Given the description of an element on the screen output the (x, y) to click on. 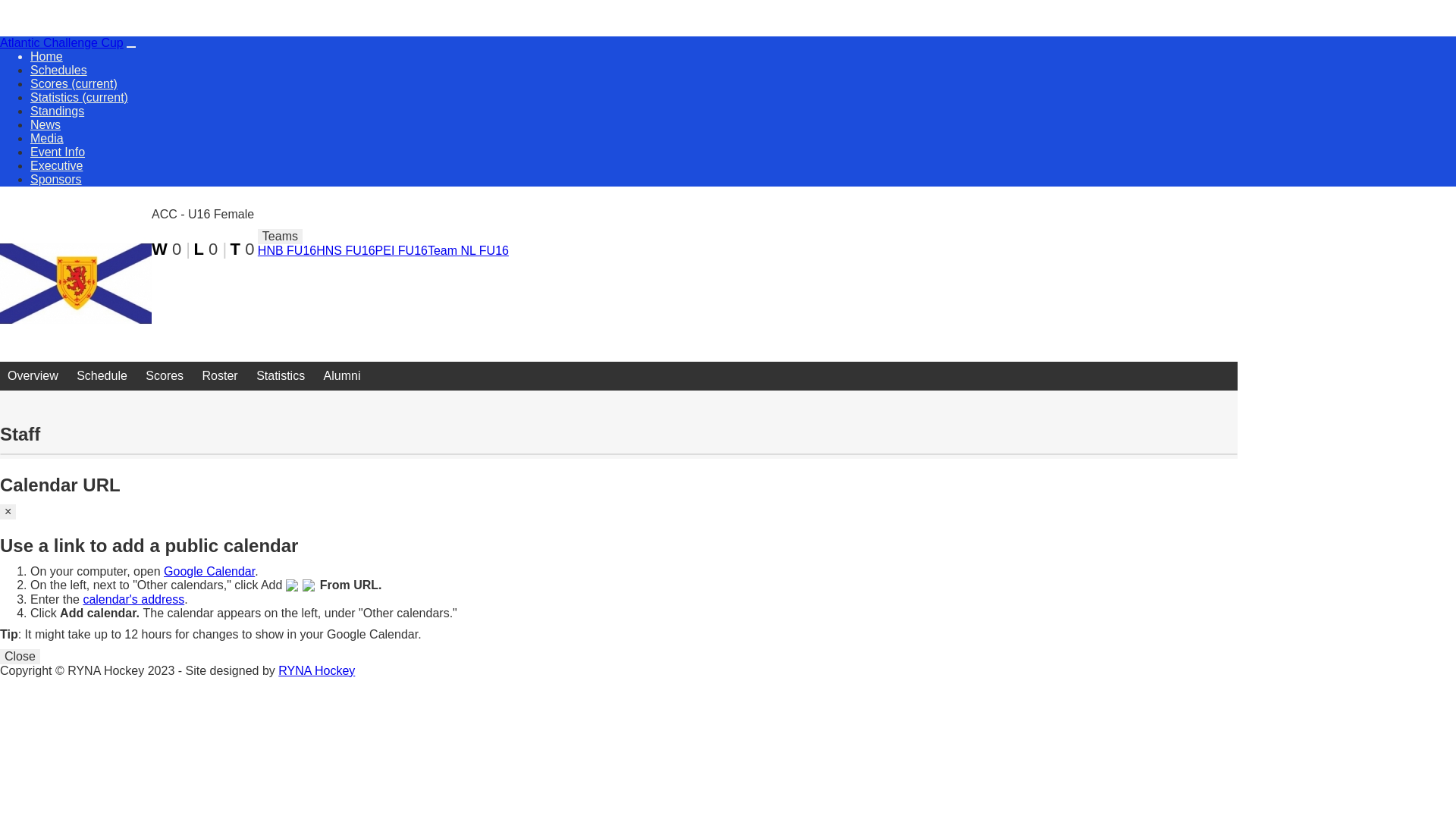
calendar's address Element type: text (133, 599)
Standings Element type: text (57, 110)
Statistics (current) Element type: text (79, 97)
RYNA Hockey Element type: text (316, 670)
Alumni Element type: text (342, 375)
Media Element type: text (46, 137)
Schedules Element type: text (58, 69)
Atlantic Challenge Cup Element type: text (61, 42)
Scores Element type: text (164, 375)
Schedule Element type: text (101, 375)
Roster Element type: text (219, 375)
Close Element type: text (20, 656)
Team NL FU16 Element type: text (467, 250)
Scores (current) Element type: text (73, 83)
Home Element type: text (46, 56)
Executive Element type: text (56, 165)
Overview Element type: text (32, 375)
PEI FU16 Element type: text (401, 250)
HNB FU16 Element type: text (286, 250)
Teams Element type: text (279, 236)
Sponsors Element type: text (55, 178)
HNS FU16 Element type: text (345, 250)
News Element type: text (45, 124)
Google Calendar Element type: text (208, 570)
Statistics Element type: text (280, 375)
Event Info Element type: text (57, 151)
